Given the description of an element on the screen output the (x, y) to click on. 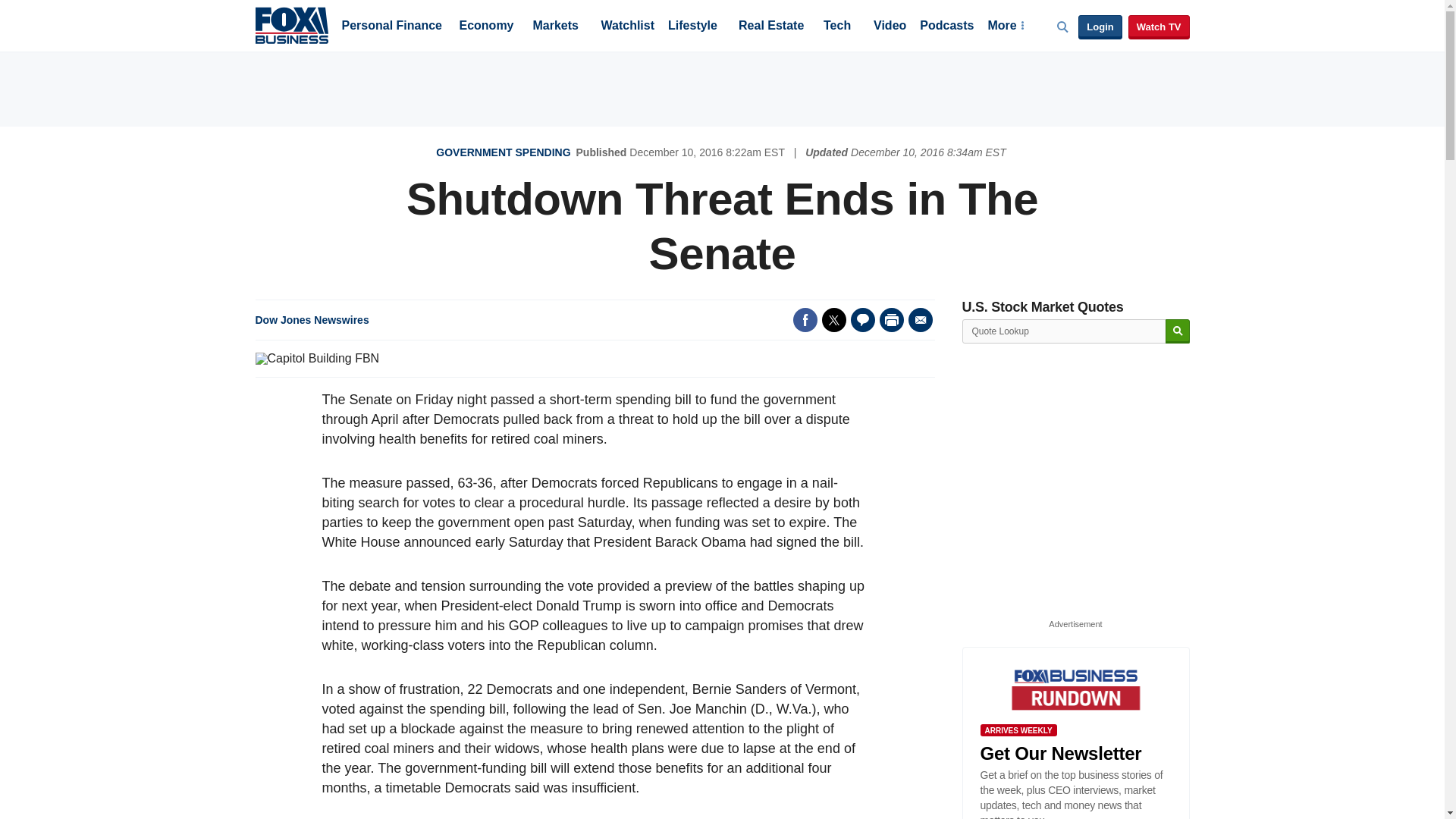
Personal Finance (391, 27)
Video (889, 27)
Markets (555, 27)
Lifestyle (692, 27)
More (1005, 27)
Watch TV (1158, 27)
Login (1099, 27)
Search (1176, 331)
Watchlist (626, 27)
Real Estate (770, 27)
